Given the description of an element on the screen output the (x, y) to click on. 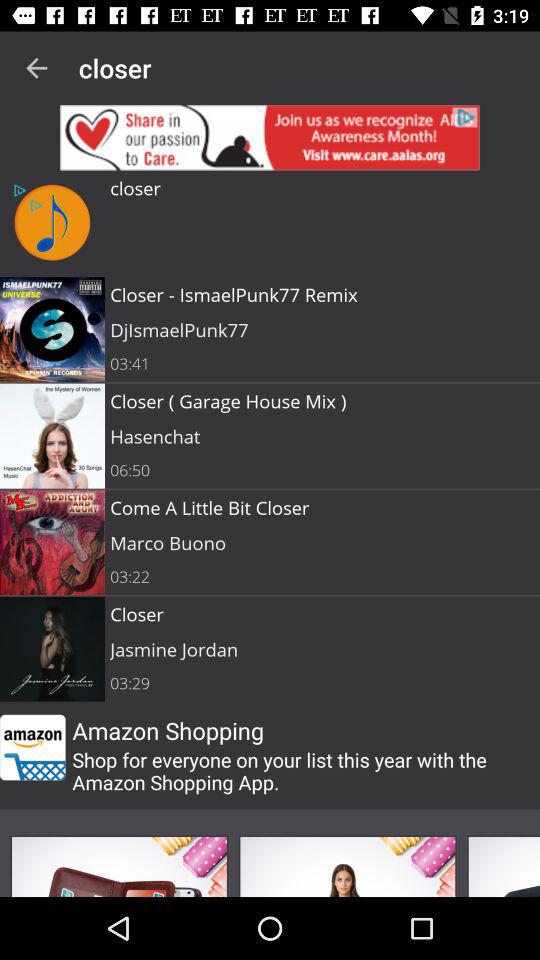
select the 1st image below the amazon shopping (118, 866)
